Given the description of an element on the screen output the (x, y) to click on. 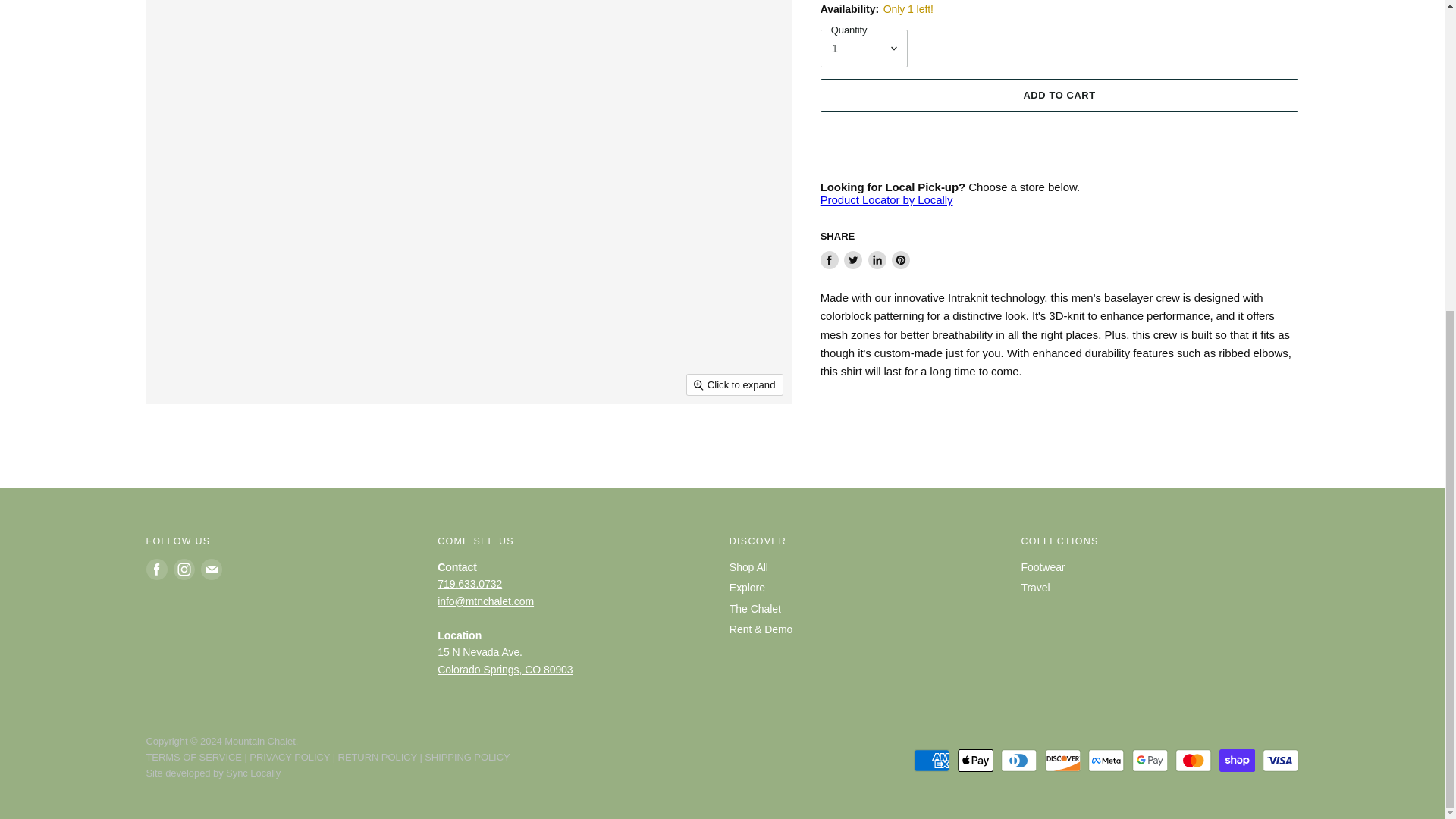
Shipping (467, 756)
Facebook (156, 568)
Terms of Service (193, 756)
Privacy Policy (289, 756)
Instagram (183, 568)
E-mail (210, 568)
Refund Policy (376, 756)
